Given the description of an element on the screen output the (x, y) to click on. 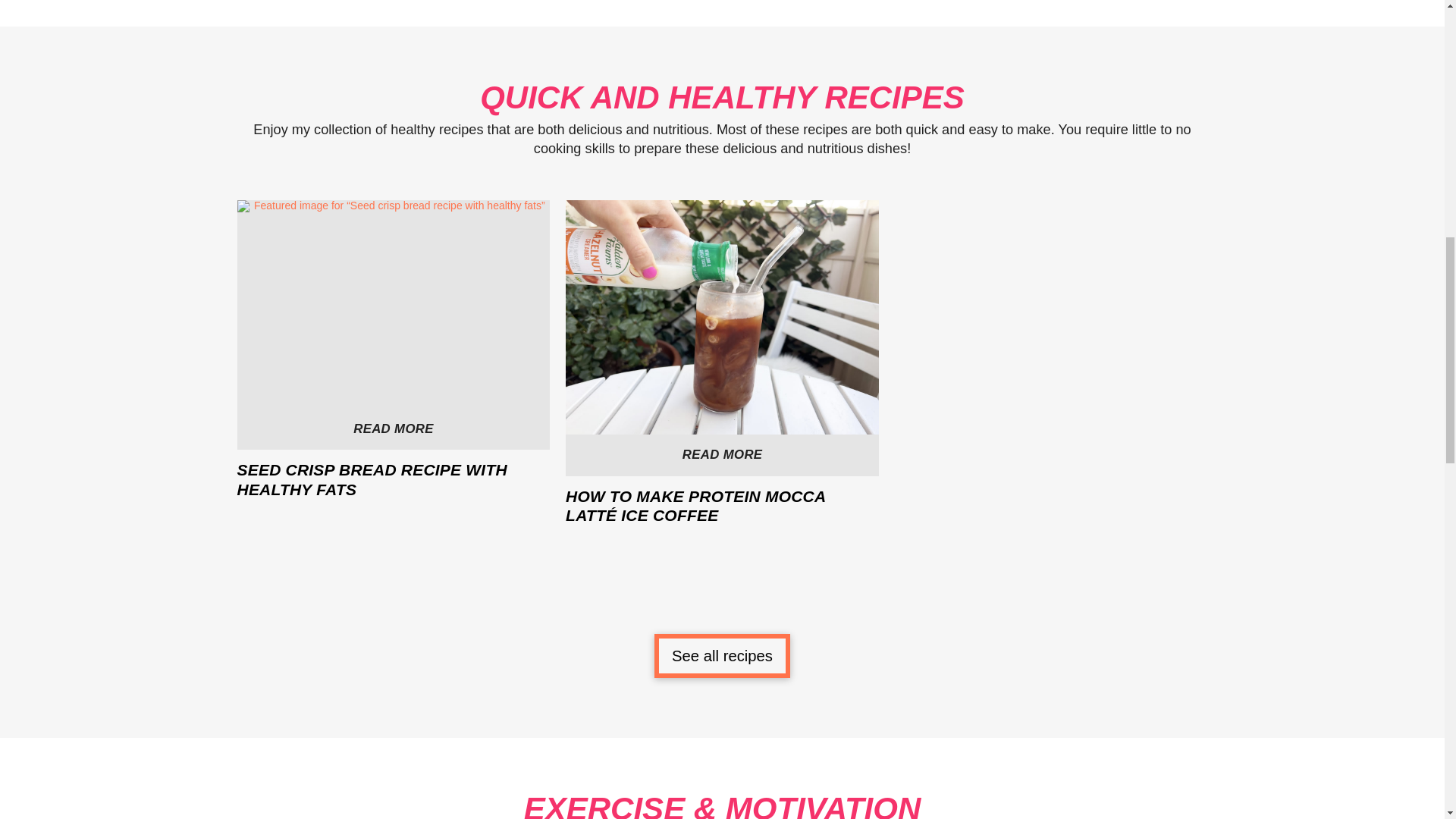
See all recipes (392, 362)
